Given the description of an element on the screen output the (x, y) to click on. 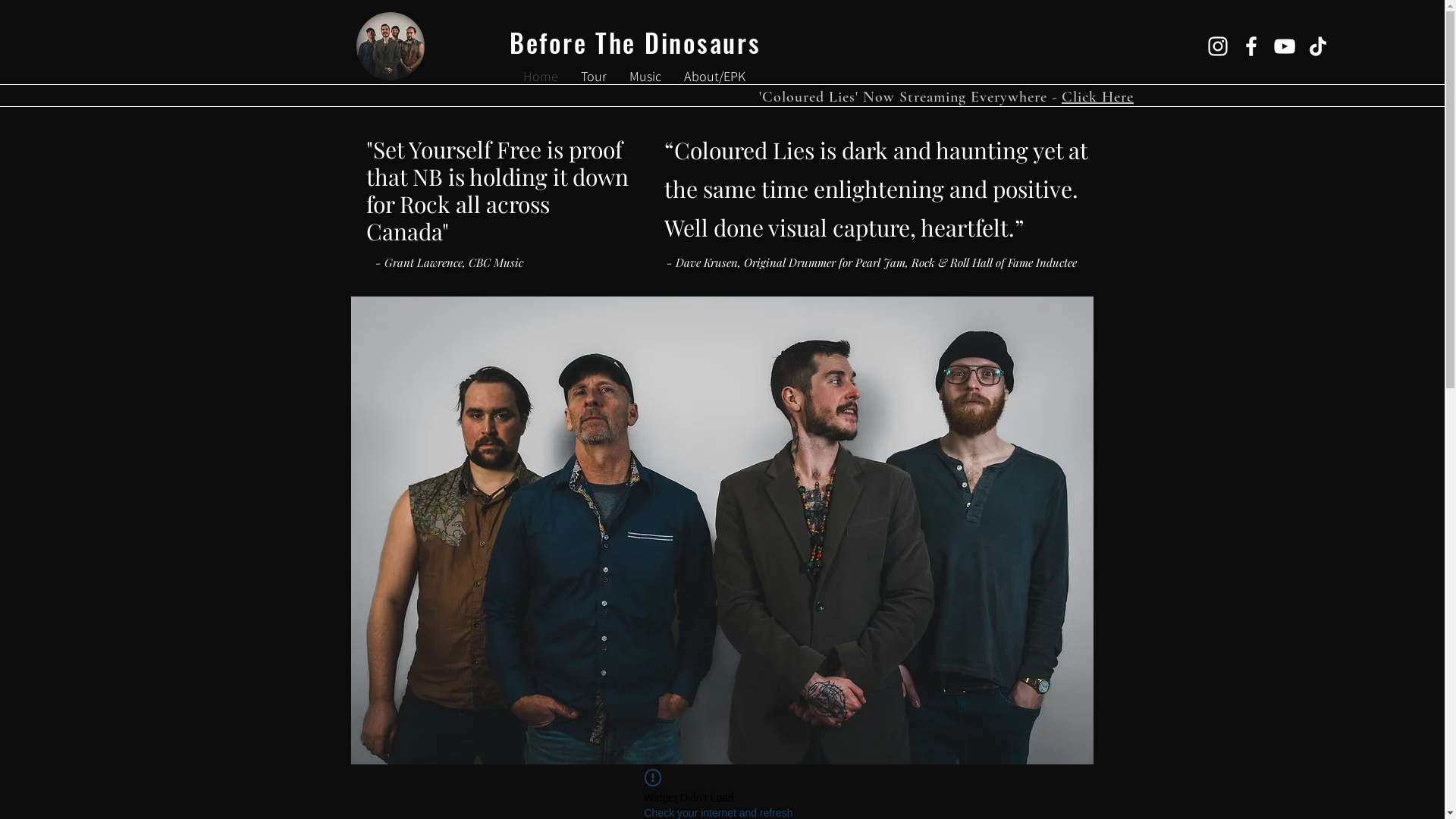
Click Here Element type: text (1097, 96)
Press Photo - Portrait - Before The Dinosaurs.jpg Element type: hover (721, 516)
About/EPK Element type: text (714, 76)
Home Element type: text (540, 76)
Embedded Content Element type: hover (722, 368)
Music Element type: text (645, 76)
Tour Element type: text (593, 76)
